Given the description of an element on the screen output the (x, y) to click on. 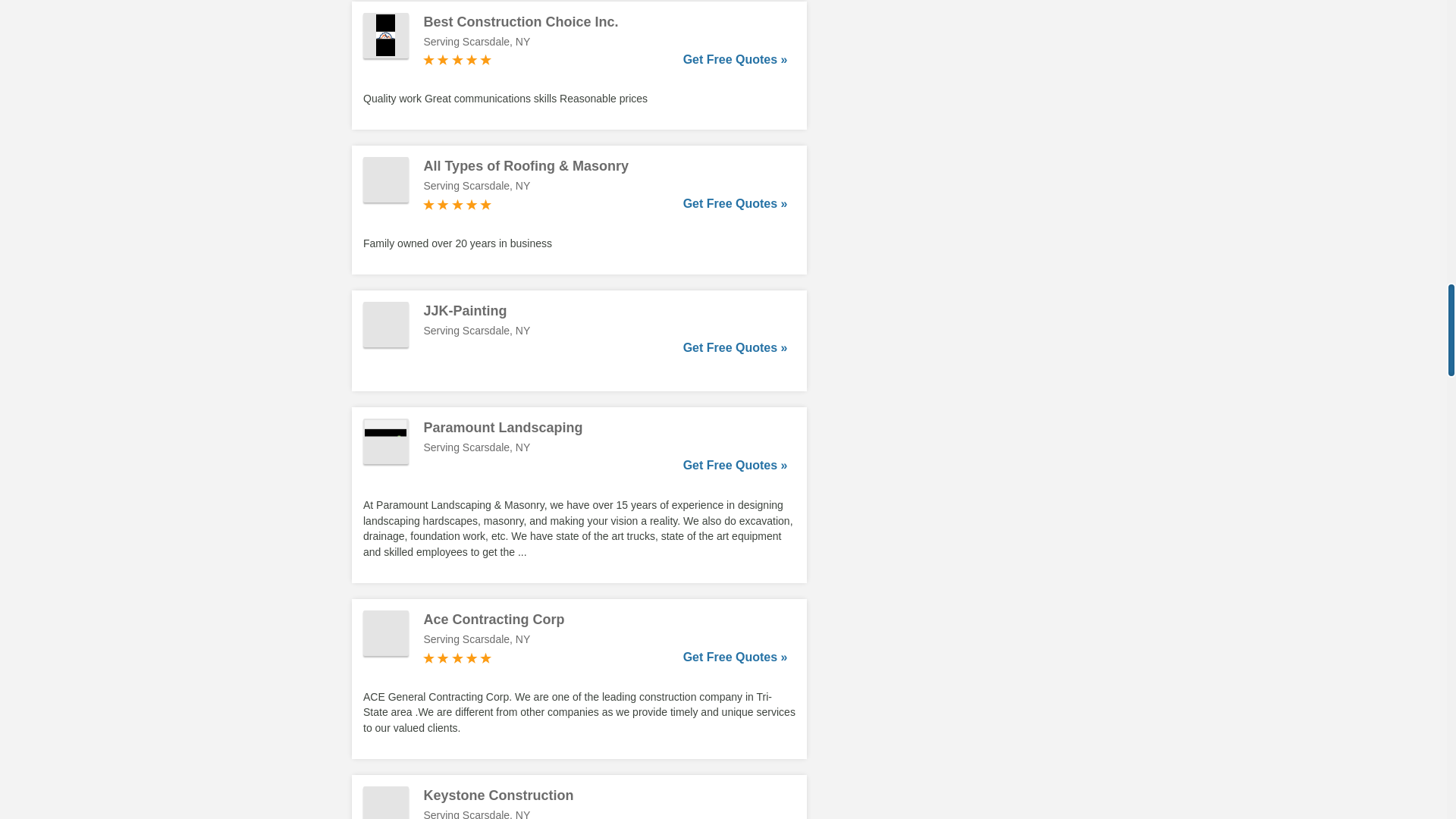
5 star rating (457, 204)
5 star rating (457, 59)
5 star rating (457, 658)
